Given the description of an element on the screen output the (x, y) to click on. 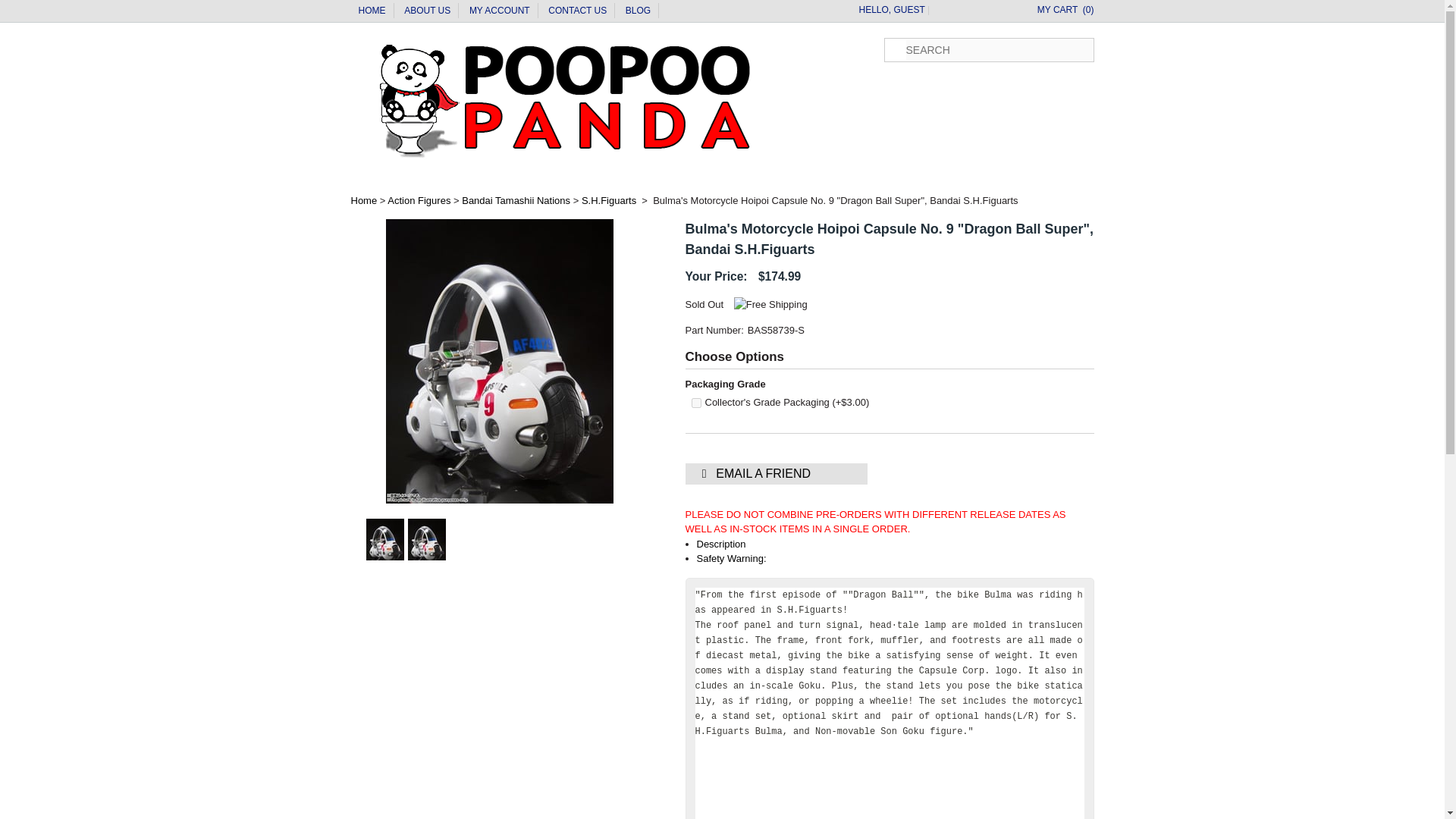
Safety Warning: (730, 558)
Home (363, 200)
Description (720, 543)
S.H.Figuarts (608, 200)
GUEST (908, 9)
Action Figures (418, 200)
EMAIL A FRIEND (776, 473)
1598 (696, 402)
BLOG (638, 9)
CONTACT US (577, 9)
MY ACCOUNT (498, 9)
HOME (371, 9)
ABOUT US (426, 9)
Bandai Tamashii Nations (515, 200)
